Given the description of an element on the screen output the (x, y) to click on. 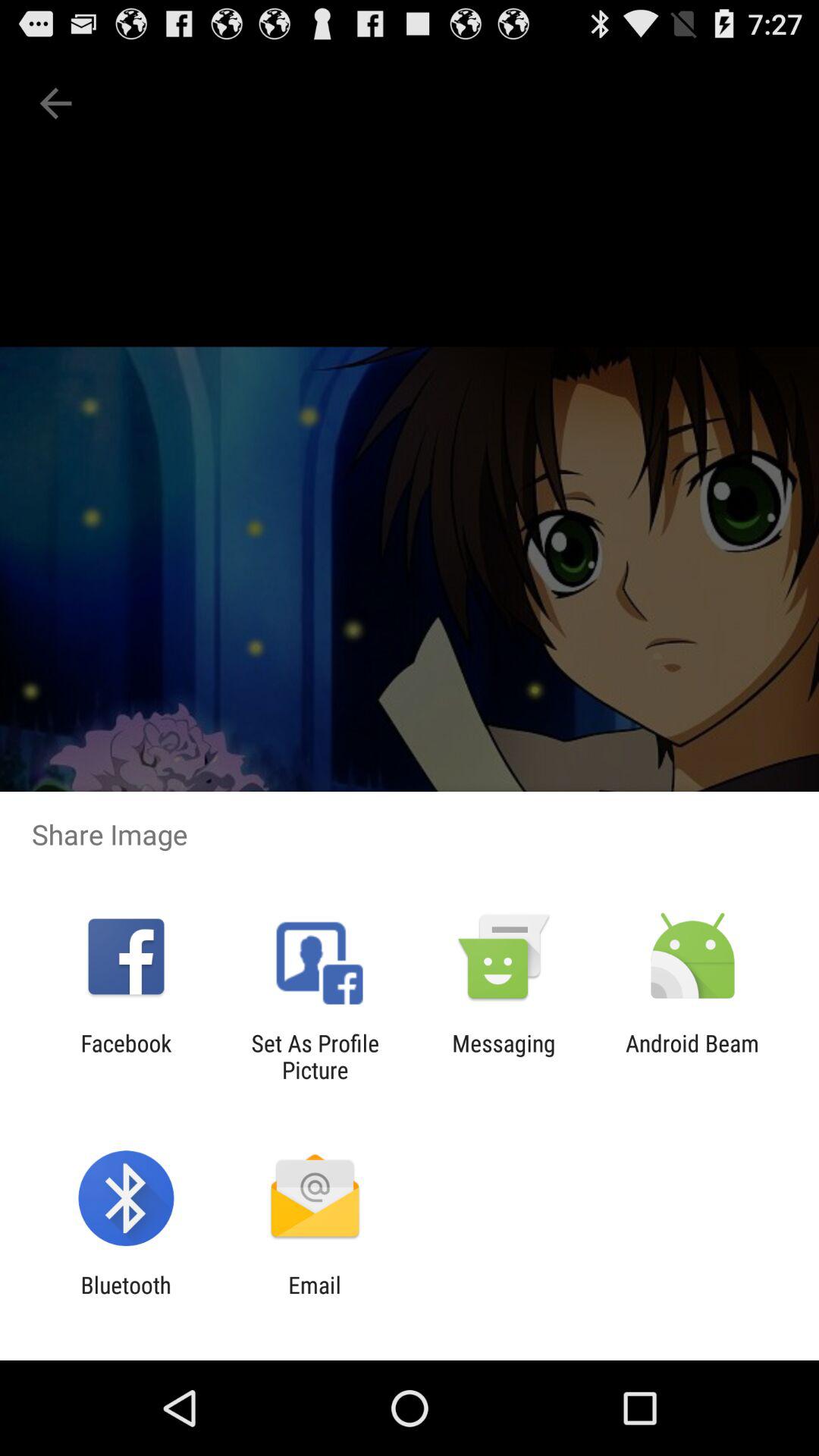
choose the app next to facebook app (314, 1056)
